Given the description of an element on the screen output the (x, y) to click on. 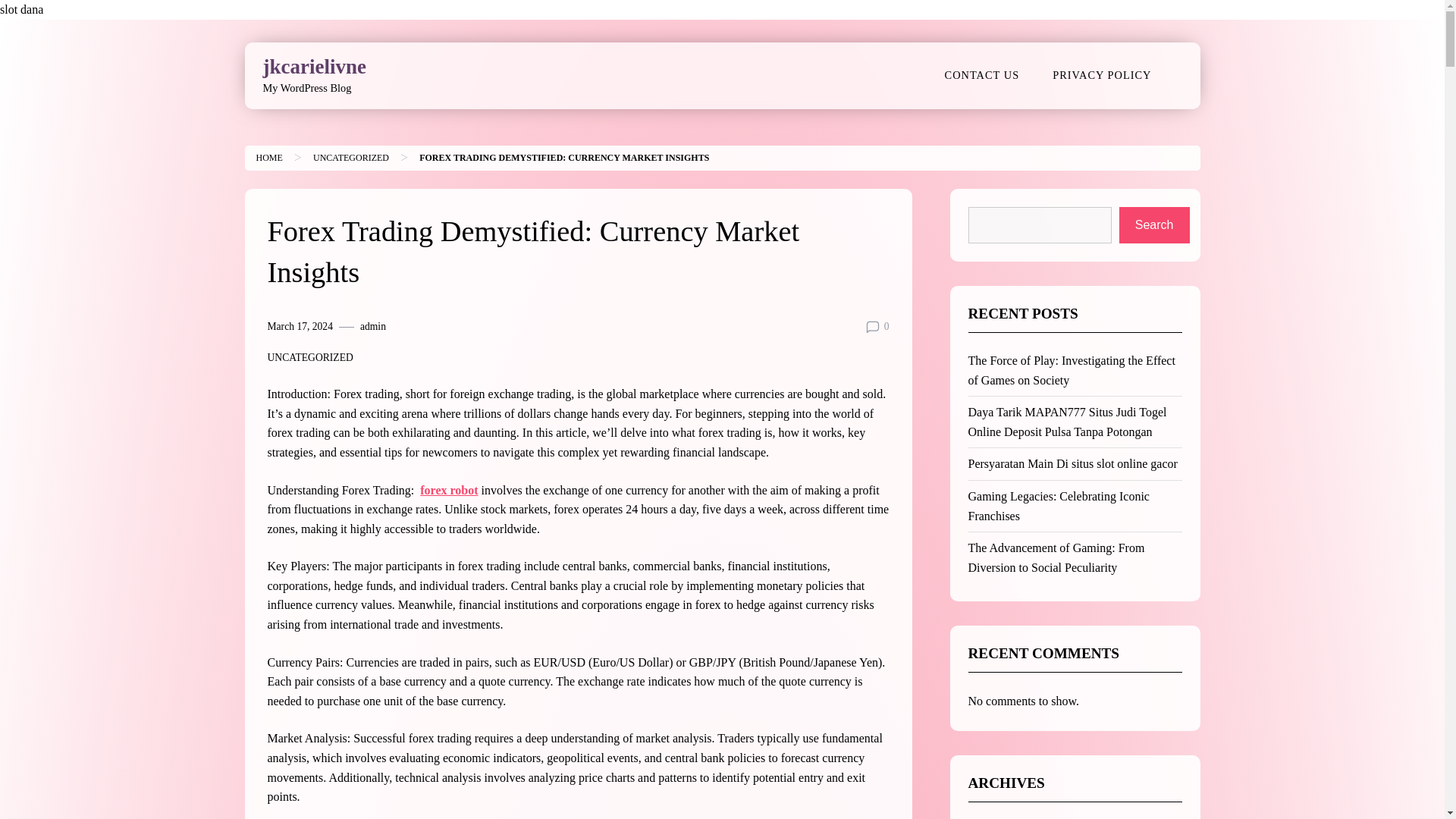
Search (1154, 225)
Forex Trading Demystified: Currency Market Insights (564, 157)
forex robot (448, 490)
UNCATEGORIZED (309, 357)
jkcarielivne (313, 66)
Home (269, 157)
PRIVACY POLICY (1101, 75)
Persyaratan Main Di situs slot online gacor (1072, 463)
Gaming Legacies: Celebrating Iconic Franchises (1058, 505)
